Given the description of an element on the screen output the (x, y) to click on. 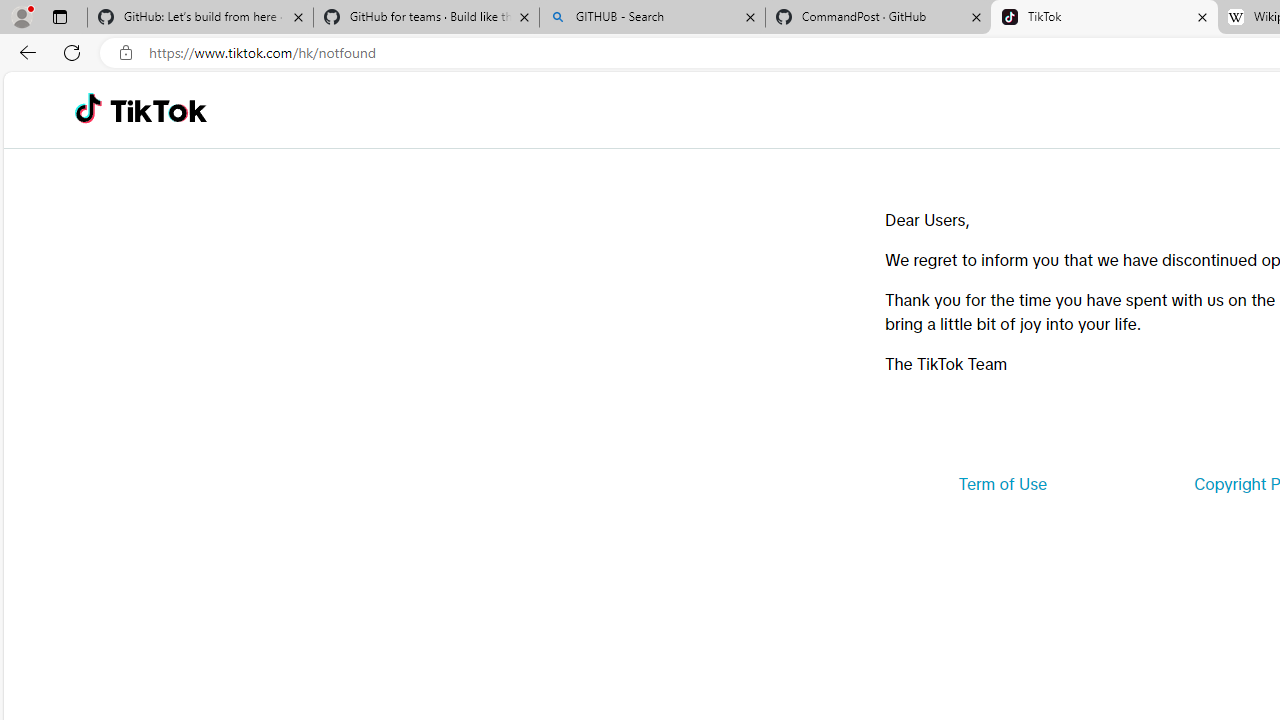
Term of Use (1002, 484)
GITHUB - Search (652, 17)
